Given the description of an element on the screen output the (x, y) to click on. 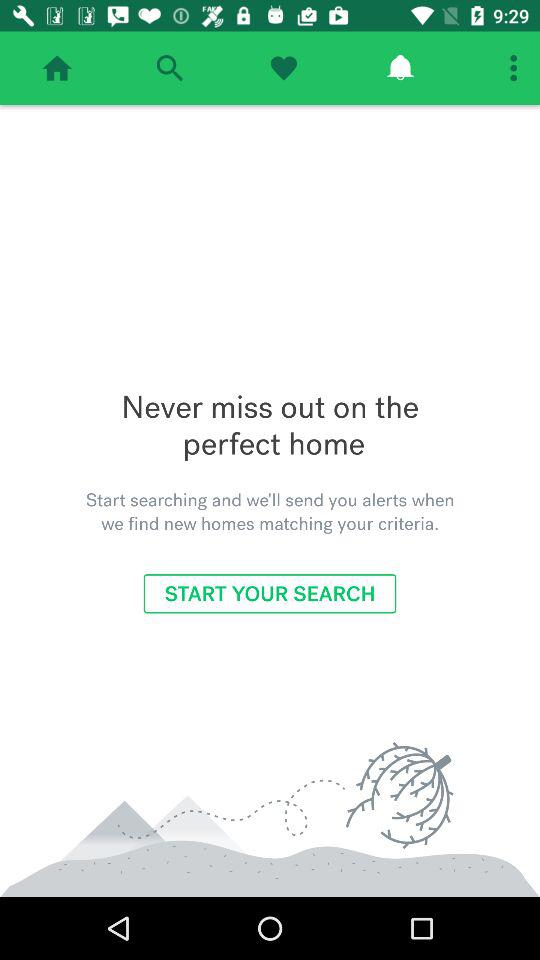
back to home (57, 68)
